Given the description of an element on the screen output the (x, y) to click on. 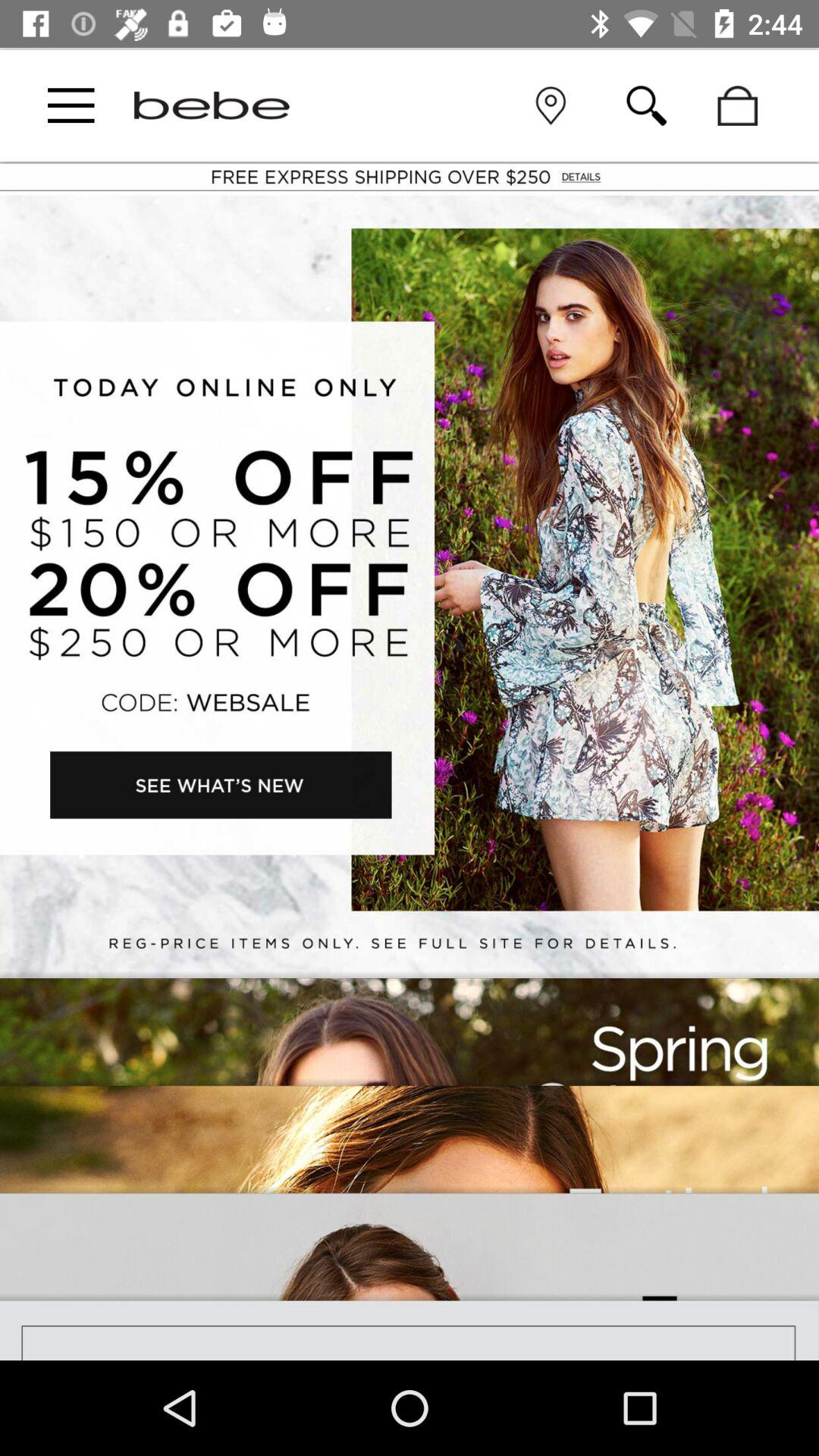
view homepage (211, 105)
